Given the description of an element on the screen output the (x, y) to click on. 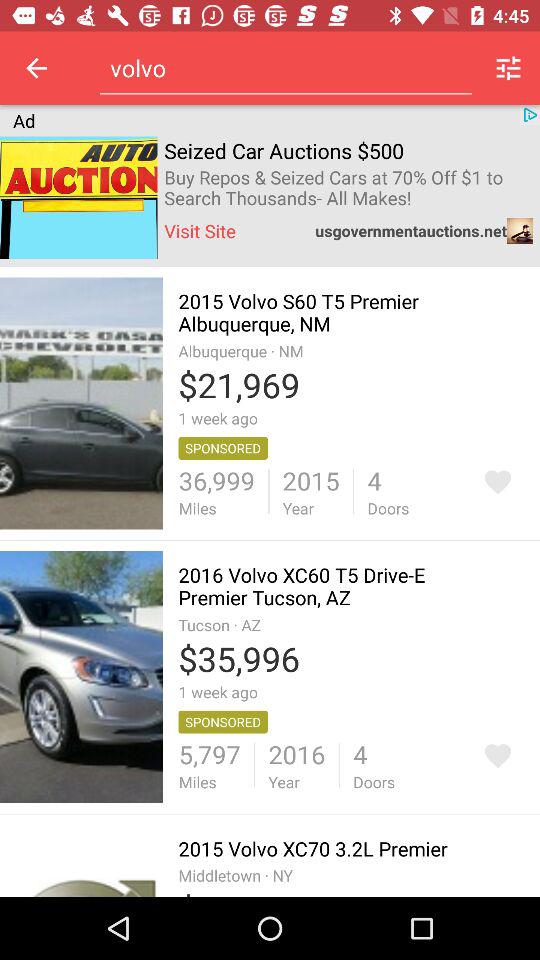
click the icon to the right of the volvo item (508, 67)
